Given the description of an element on the screen output the (x, y) to click on. 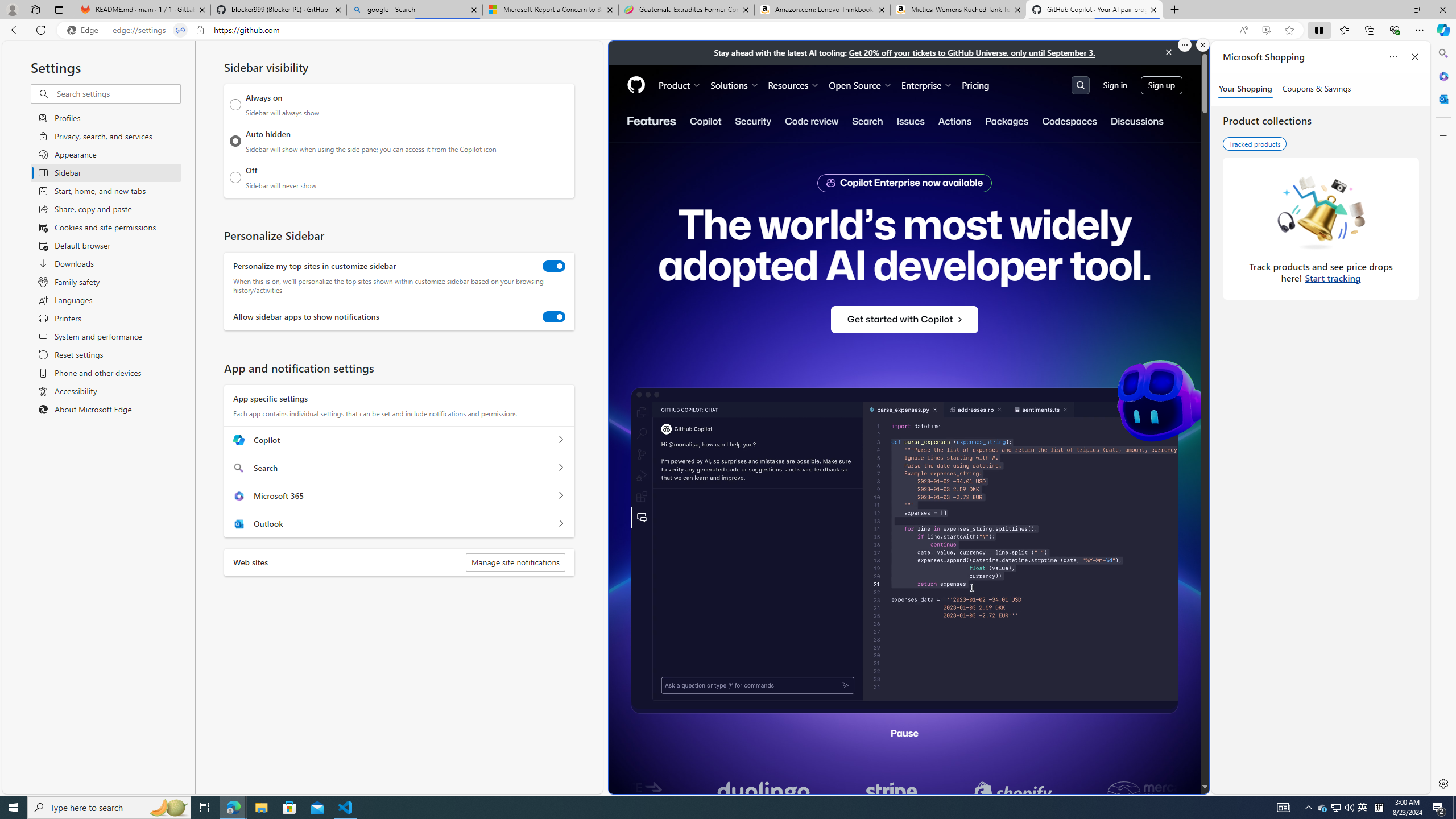
Duolingo's logo (927, 793)
Coca Cola's logo (667, 793)
Manage site notifications (514, 562)
Codespaces (1069, 120)
Edge (84, 29)
Homepage (635, 85)
Pricing (975, 84)
Solutions (735, 84)
Coyote Logistics's logo (792, 793)
Off Sidebar will never show (235, 177)
Enterprise (927, 84)
Always on Sidebar will always show (235, 104)
